Given the description of an element on the screen output the (x, y) to click on. 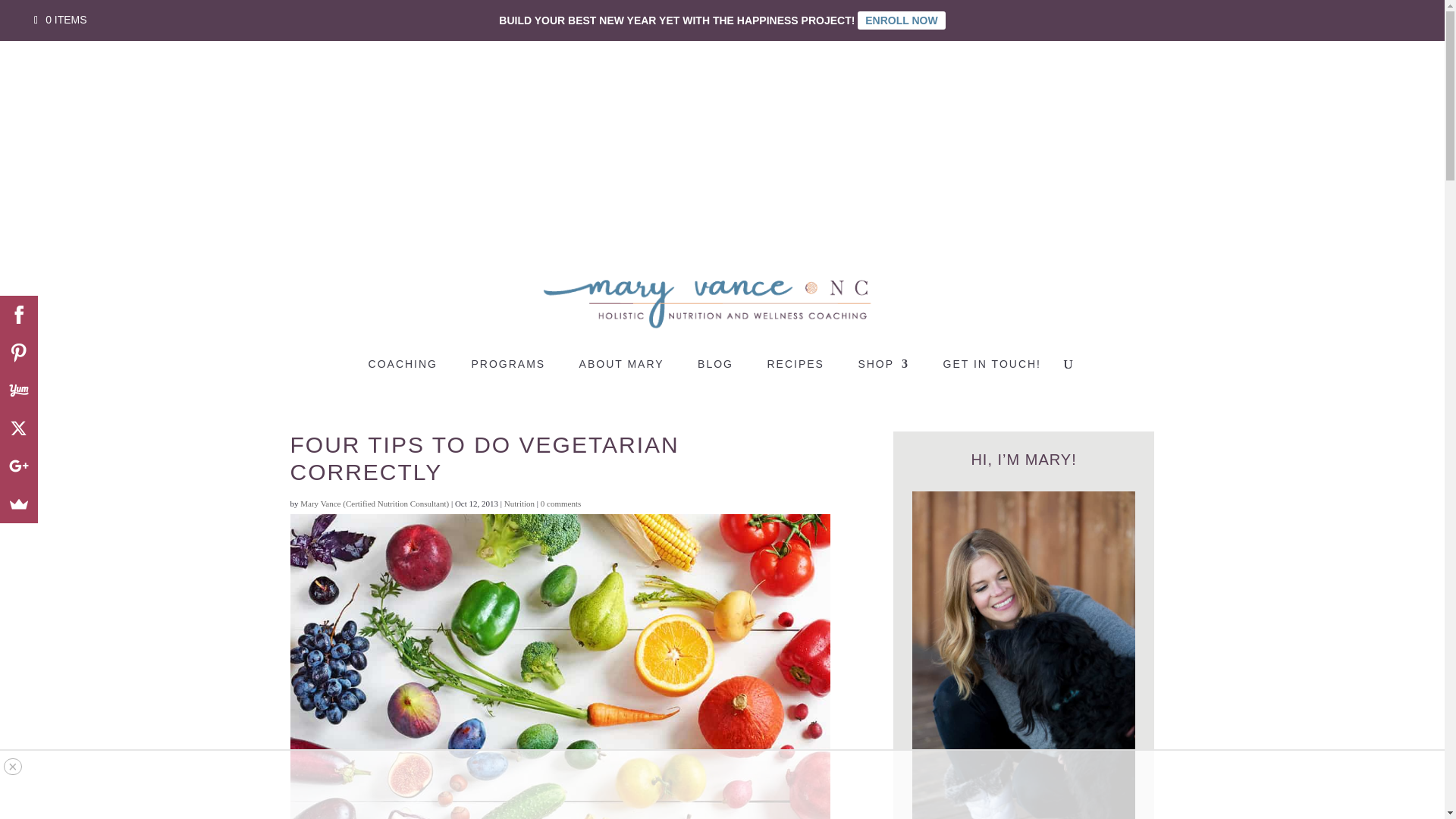
BLOG (715, 373)
GET IN TOUCH! (992, 373)
SHOP (882, 373)
RECIPES (795, 373)
Nutrition (518, 502)
0 comments (560, 502)
ABOUT MARY (621, 373)
ENROLL NOW (900, 20)
COACHING (403, 373)
PROGRAMS (507, 373)
0 ITEMS (60, 19)
